Given the description of an element on the screen output the (x, y) to click on. 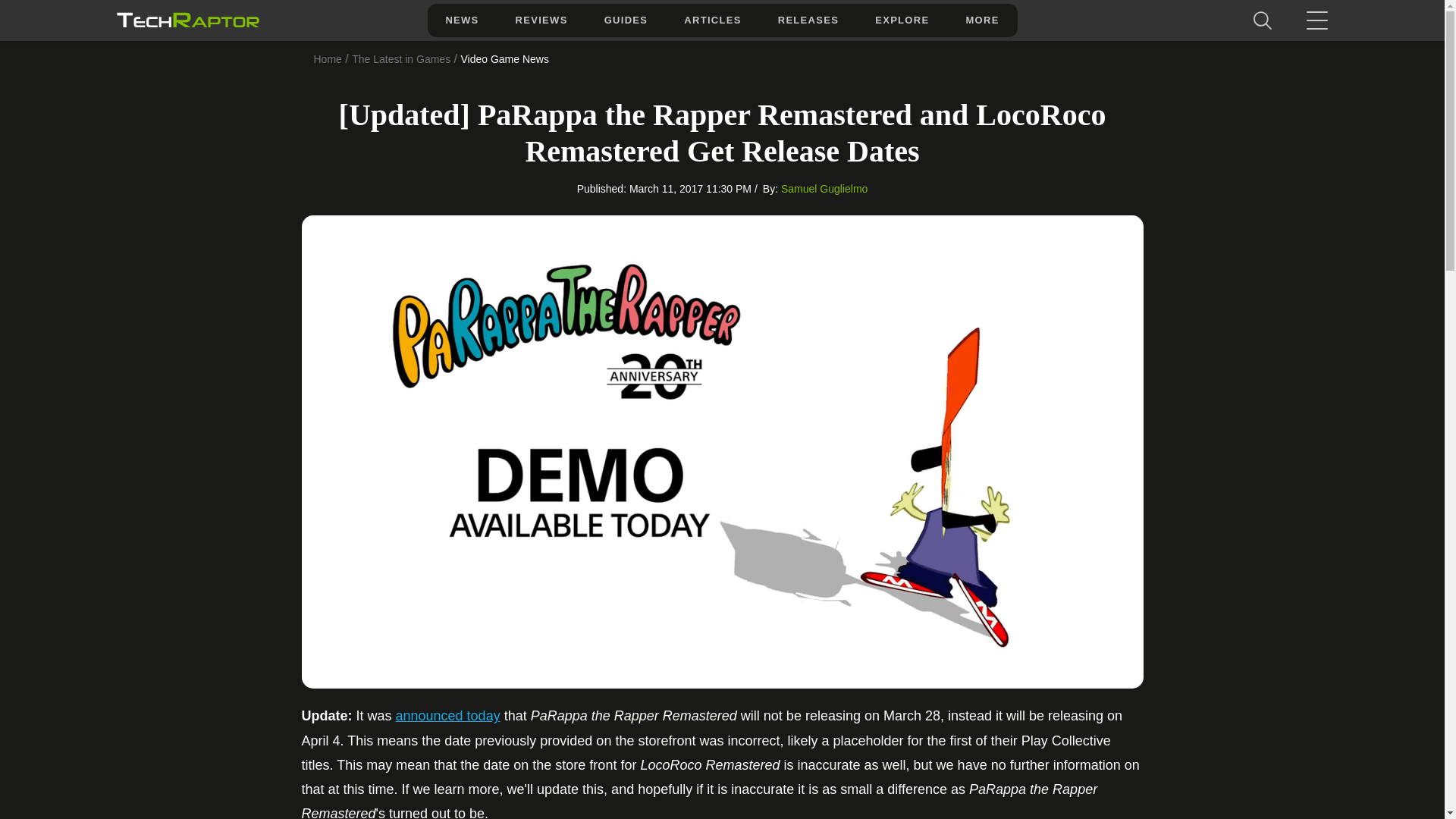
GUIDES (626, 20)
RELEASES (807, 20)
ARTICLES (711, 20)
NEWS (461, 20)
REVIEWS (541, 20)
TechRaptor Home (187, 20)
